Given the description of an element on the screen output the (x, y) to click on. 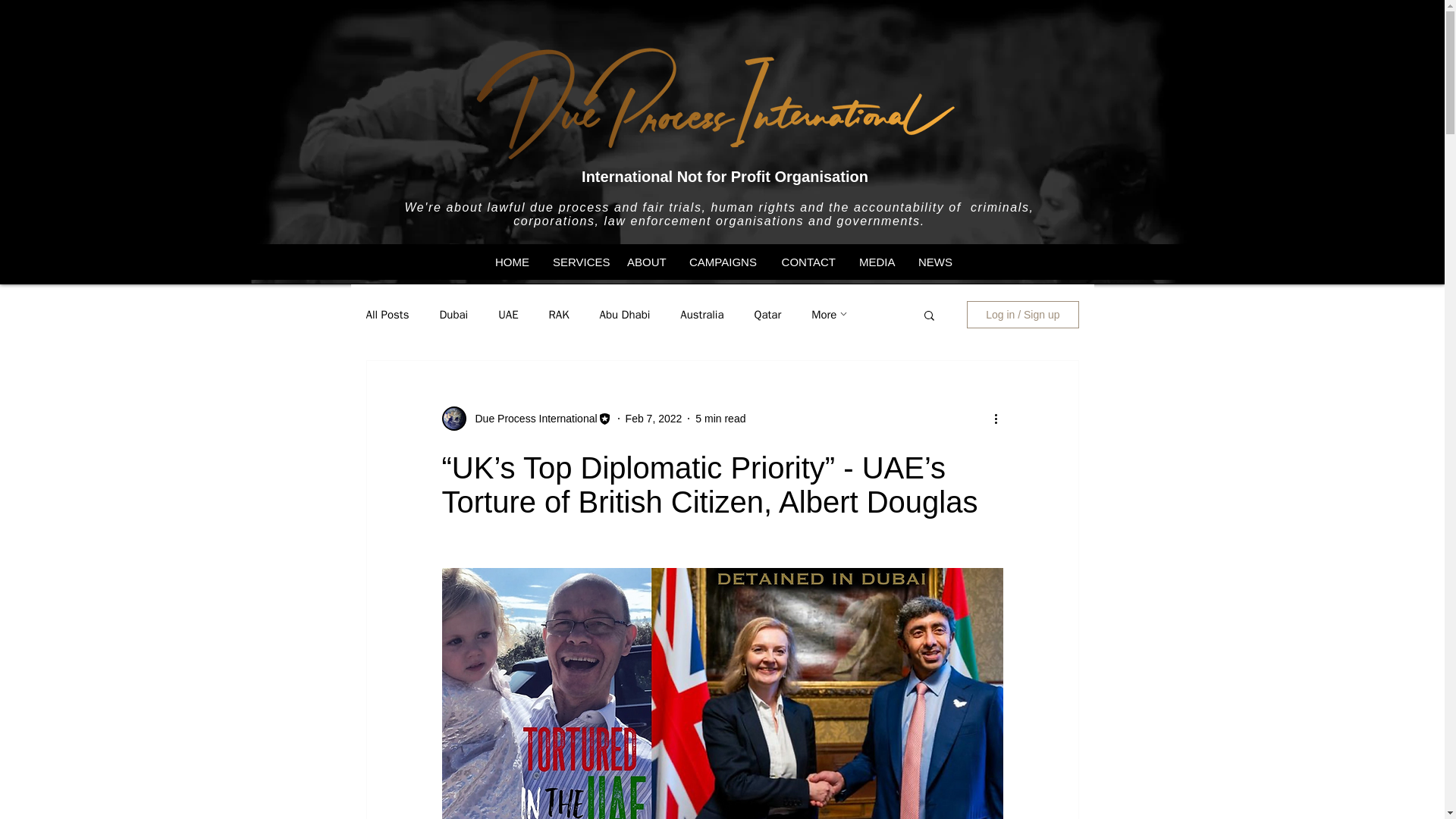
MEDIA (876, 262)
NEWS (933, 262)
Dubai (453, 314)
CAMPAIGNS (722, 262)
Qatar (767, 314)
HOME (510, 262)
RAK (558, 314)
SERVICES (577, 262)
5 min read (720, 418)
UAE (507, 314)
Feb 7, 2022 (654, 418)
Due Process International (530, 418)
Australia (701, 314)
All Posts (387, 314)
CONTACT (807, 262)
